Given the description of an element on the screen output the (x, y) to click on. 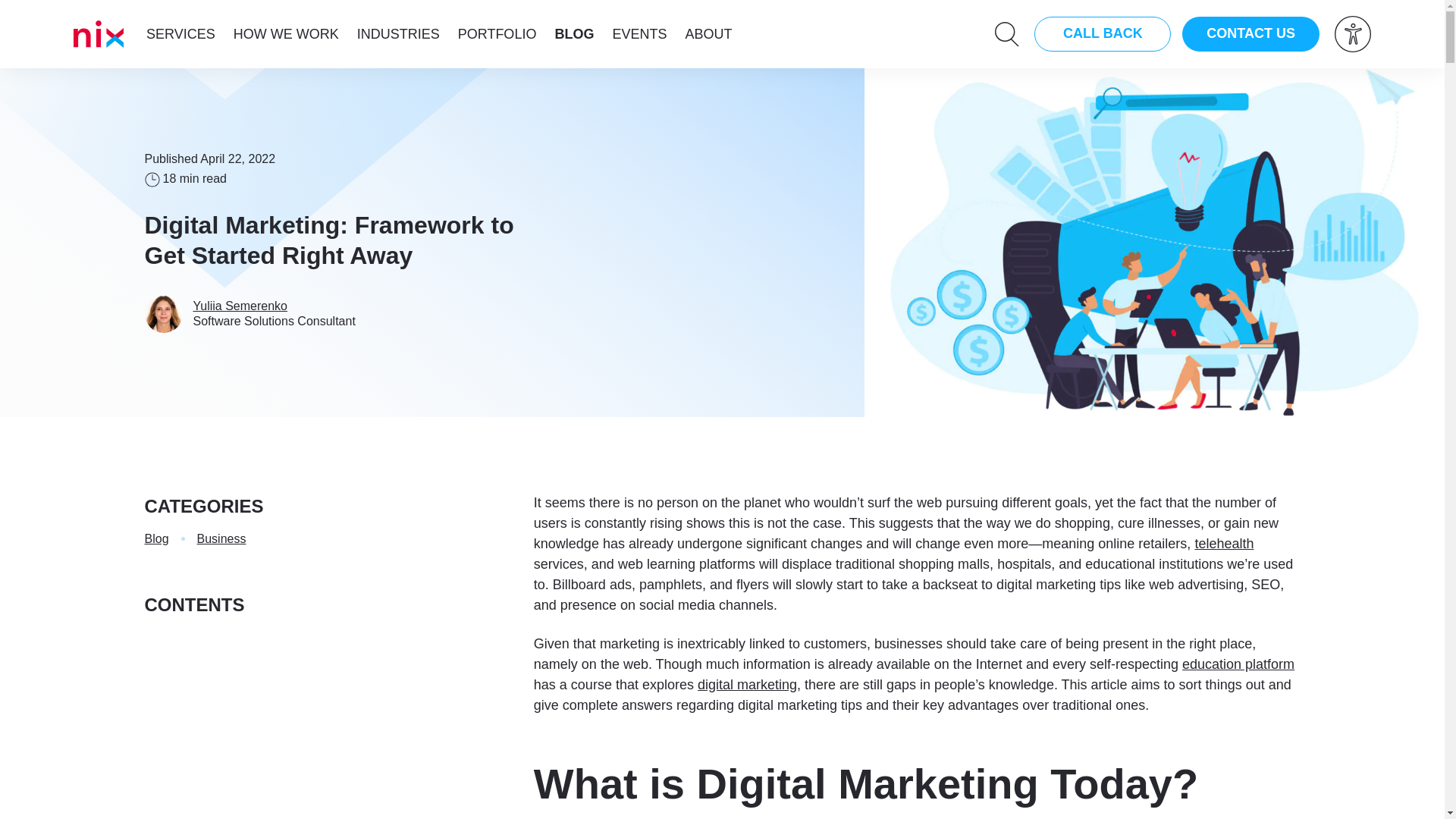
SERVICES (181, 33)
HOW WE WORK (285, 33)
Teaching with Portals (1238, 663)
Telehealth vs Telemedicine Examples (1223, 543)
Small Business Digital Marketing (746, 684)
INDUSTRIES (397, 33)
